Given the description of an element on the screen output the (x, y) to click on. 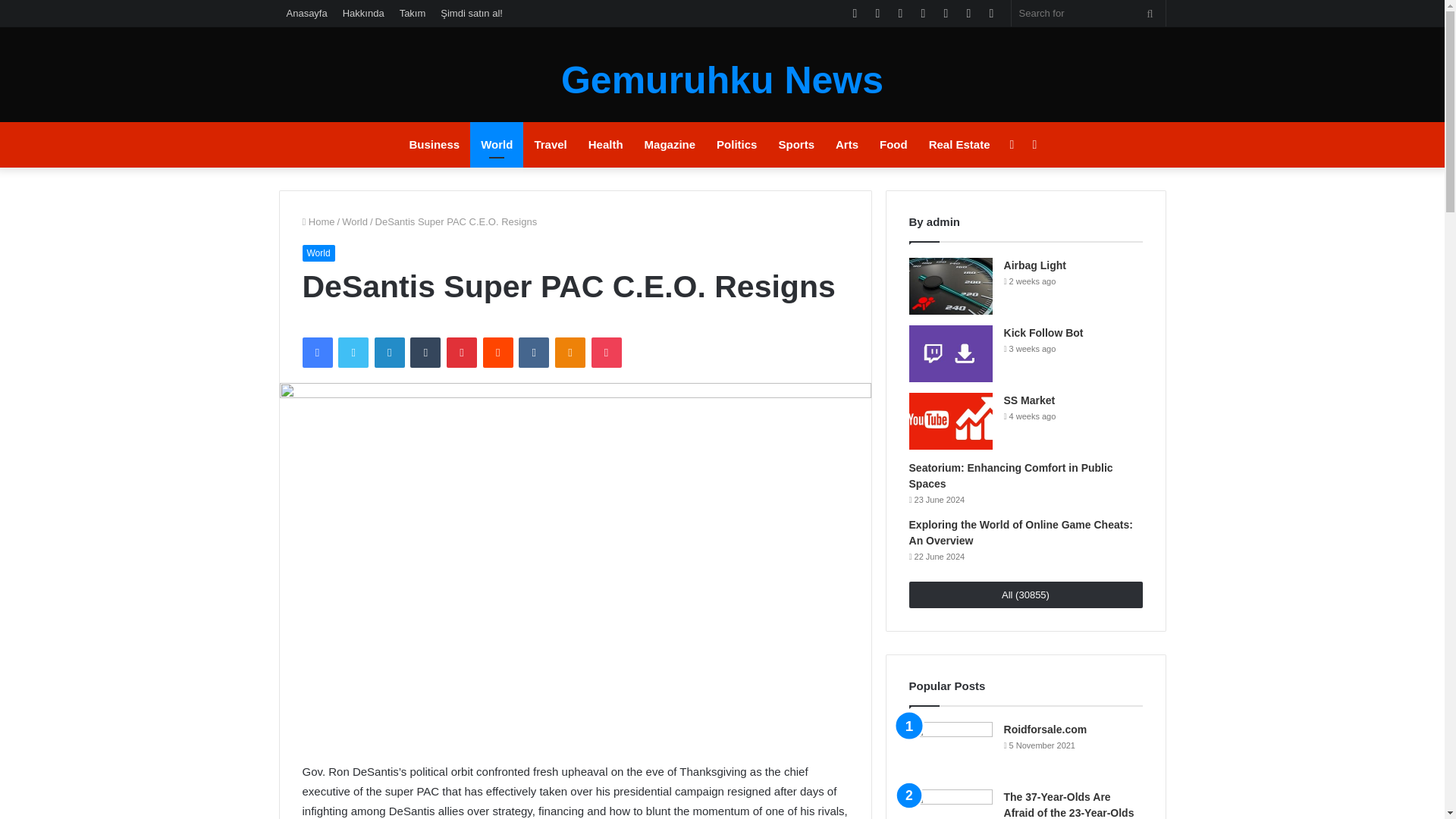
Arts (847, 144)
Home (317, 221)
Real Estate (959, 144)
Pocket (606, 352)
Facebook (316, 352)
Gemuruhku News (721, 80)
Food (893, 144)
Odnoklassniki (569, 352)
Tumblr (425, 352)
Anasayfa (306, 13)
Facebook (316, 352)
Pinterest (461, 352)
Reddit (498, 352)
VKontakte (533, 352)
Gemuruhku News (721, 80)
